Given the description of an element on the screen output the (x, y) to click on. 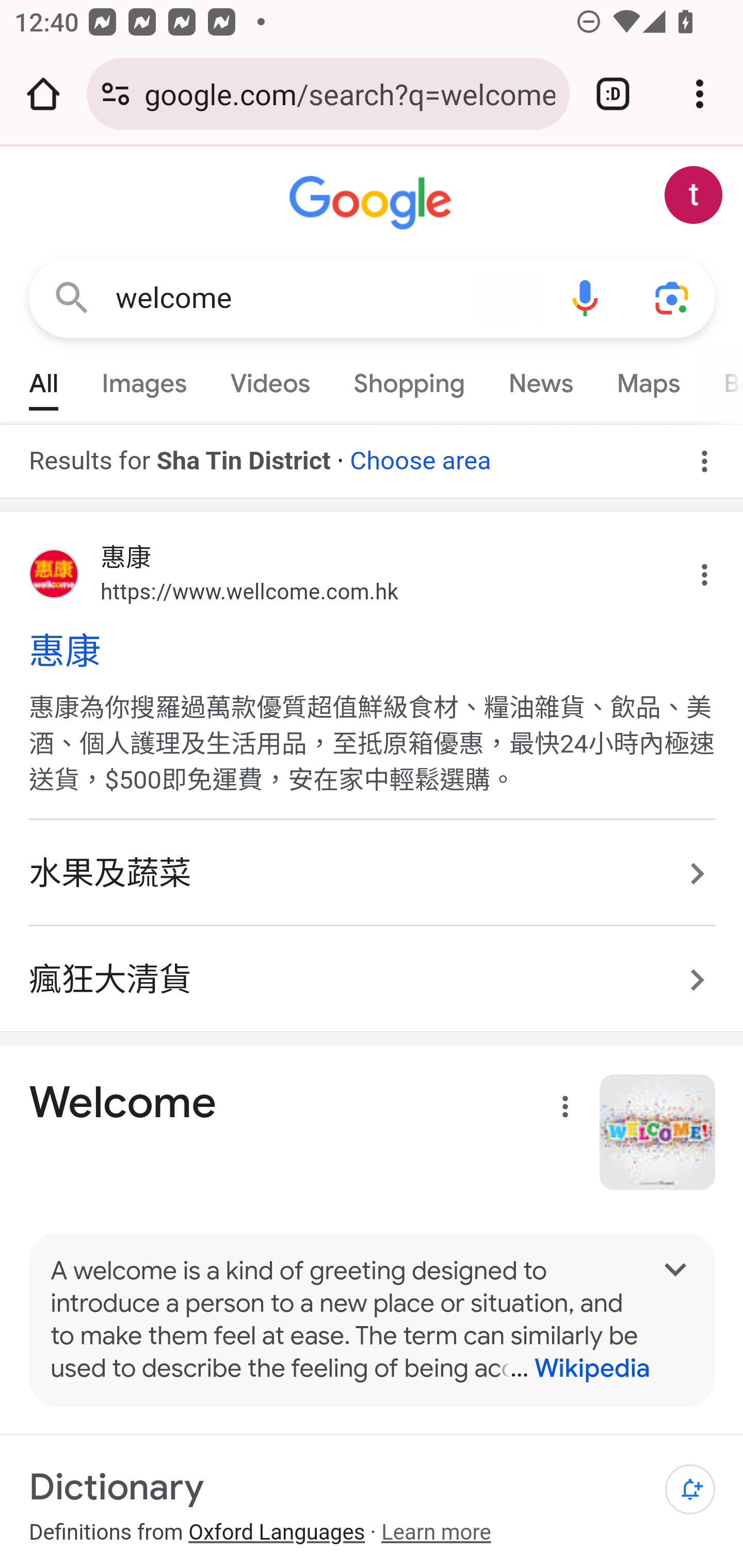
Open the home page (43, 93)
Connection is secure (115, 93)
Switch or close tabs (612, 93)
Customize and control Google Chrome (699, 93)
Google (372, 203)
Google Search (71, 296)
Search using your camera or photos (672, 296)
welcome (328, 297)
Images (144, 378)
Videos (270, 378)
Shopping (408, 378)
News (540, 378)
Maps (647, 378)
Choose area (419, 453)
惠康 (372, 651)
水果及蔬菜 (372, 874)
瘋狂大清貨 (372, 970)
Thumbnail image for Welcome (657, 1131)
More options (561, 1109)
Wikipedia (572, 1368)
Get notifications about Word of the day (690, 1489)
Oxford Languages (276, 1532)
Learn more (435, 1532)
